Given the description of an element on the screen output the (x, y) to click on. 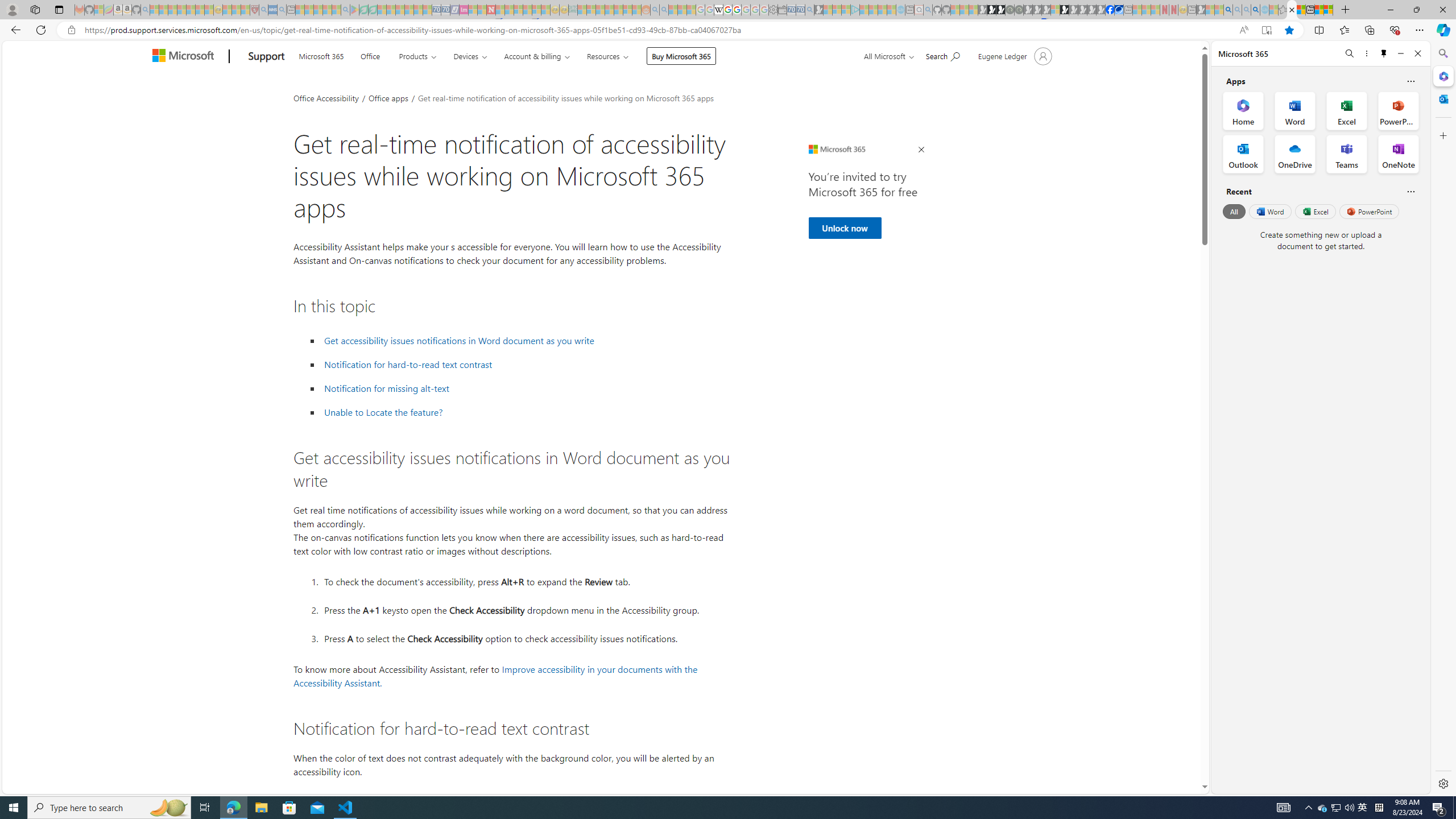
Close Customize pane (1442, 135)
utah sues federal government - Search - Sleeping (281, 9)
Word Office App (1295, 110)
 Unable to Locate the feature? (383, 412)
Close Ad (920, 149)
